Given the description of an element on the screen output the (x, y) to click on. 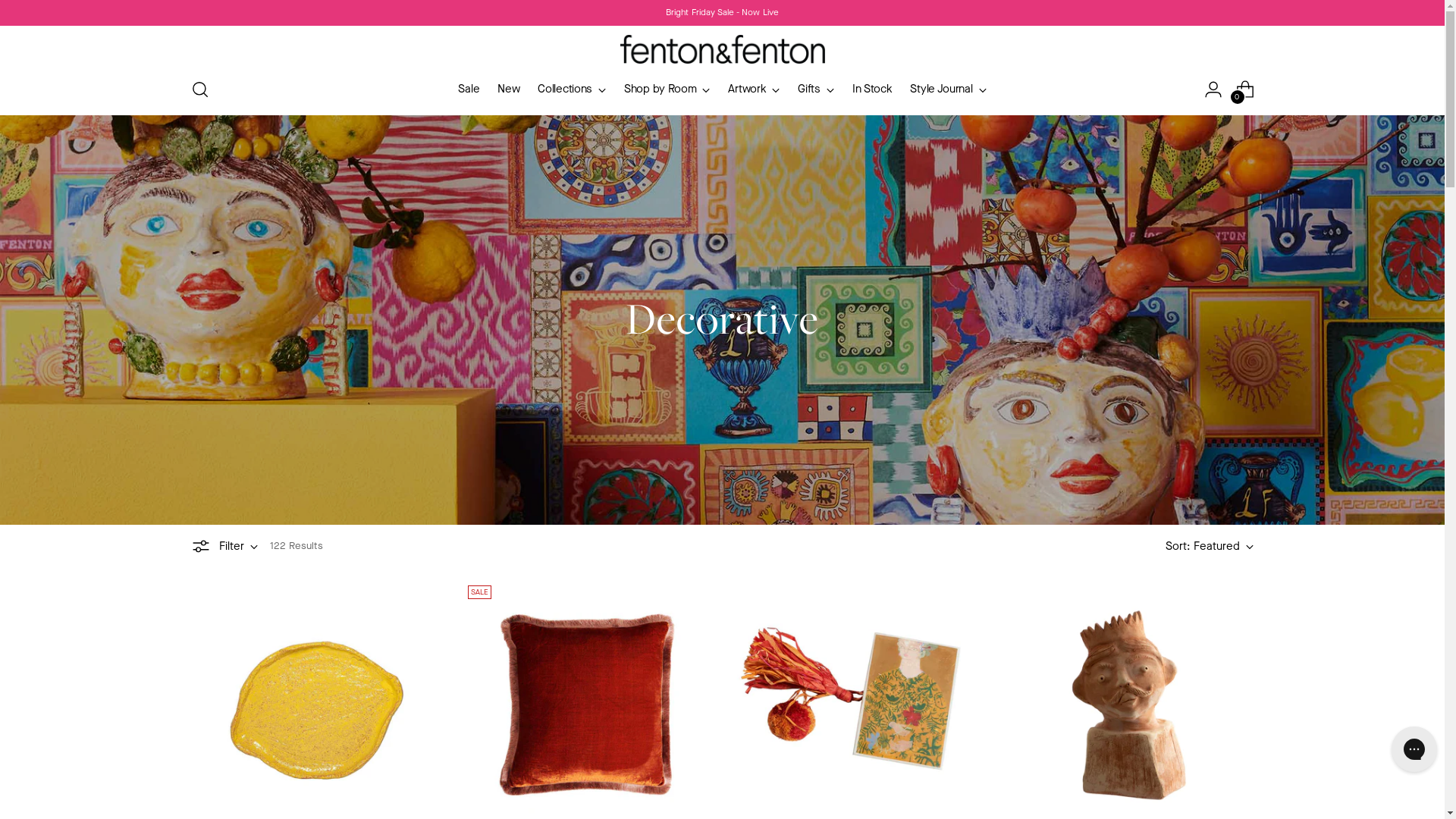
Shop by Room Element type: text (666, 89)
0 Element type: text (1245, 89)
Filter Element type: text (224, 545)
Gorgias live chat messenger Element type: hover (1413, 749)
Artwork Element type: text (753, 89)
Style Journal Element type: text (947, 89)
Collections Element type: text (571, 89)
Sale Element type: text (468, 89)
Gifts Element type: text (815, 89)
Sort: Featured Element type: text (1208, 545)
Bright Friday Sale - Now Live Element type: text (721, 12)
New Element type: text (508, 89)
In Stock Element type: text (872, 89)
